Given the description of an element on the screen output the (x, y) to click on. 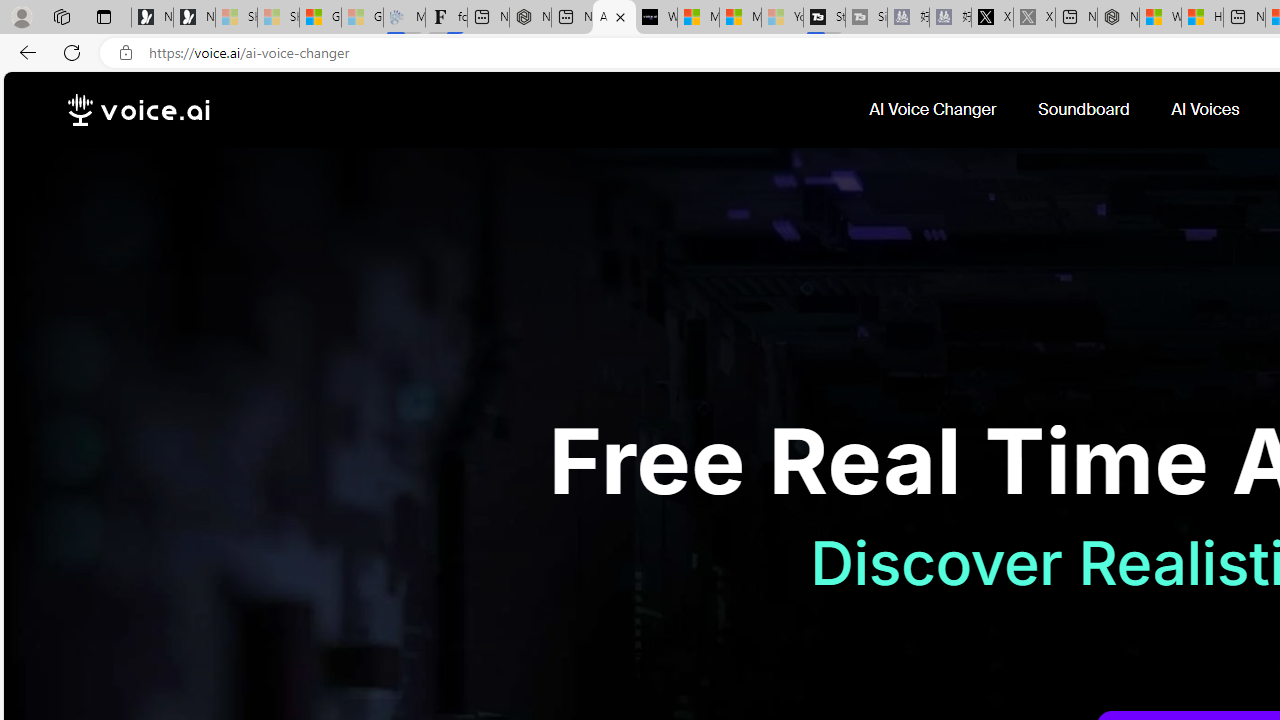
Soundboard  (1086, 109)
